Given the description of an element on the screen output the (x, y) to click on. 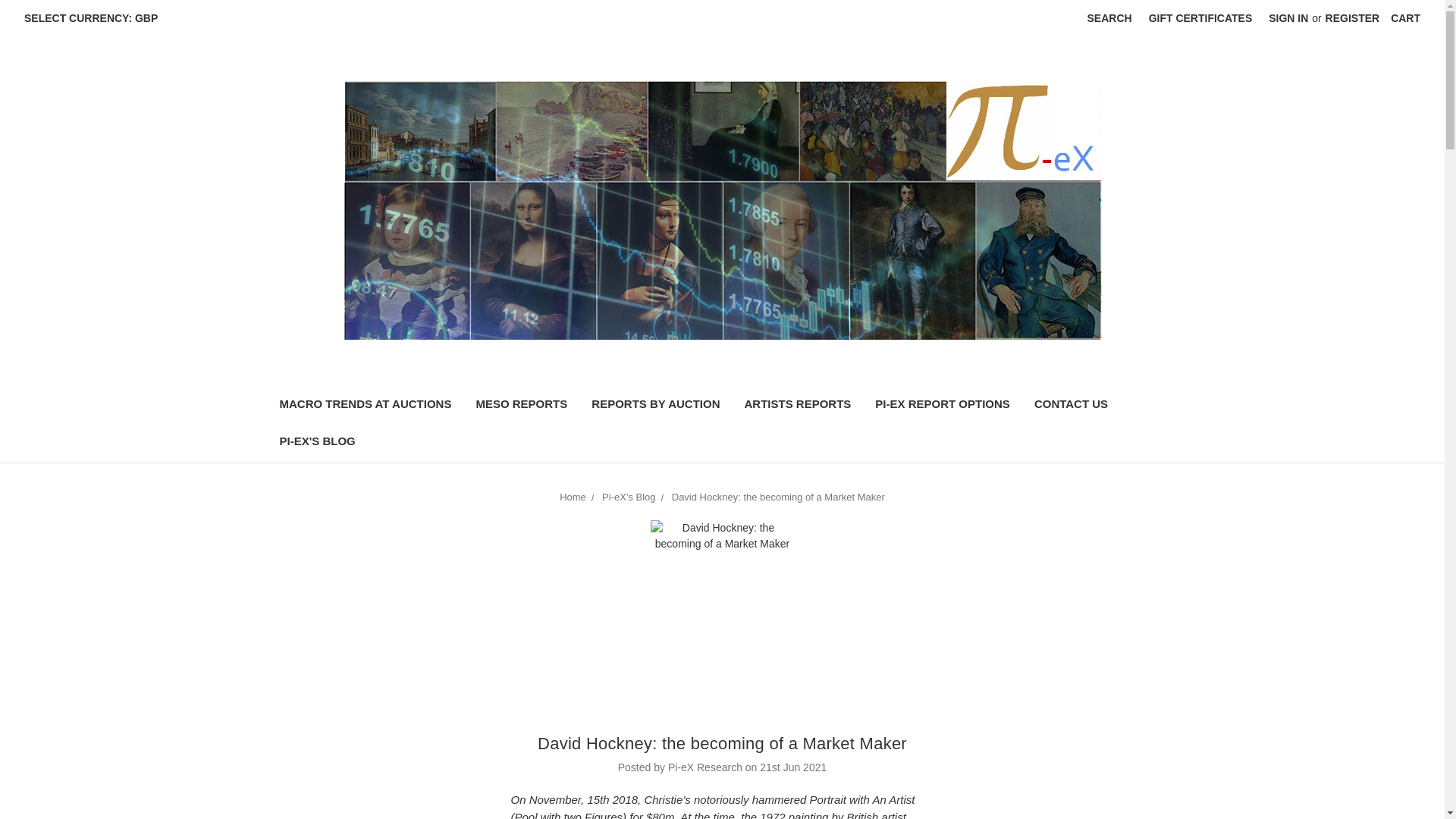
GIFT CERTIFICATES (1200, 18)
Home (572, 496)
PI-EX REPORT OPTIONS (942, 406)
PI-EX'S BLOG (316, 443)
REPORTS BY AUCTION (655, 406)
CART (1404, 18)
SELECT CURRENCY: GBP (96, 18)
ARTISTS REPORTS (797, 406)
REGISTER (1353, 18)
SIGN IN (1288, 18)
MESO REPORTS (521, 406)
Pi-eX's Blog (628, 496)
CONTACT US (1070, 406)
MACRO TRENDS AT AUCTIONS (364, 406)
